Given the description of an element on the screen output the (x, y) to click on. 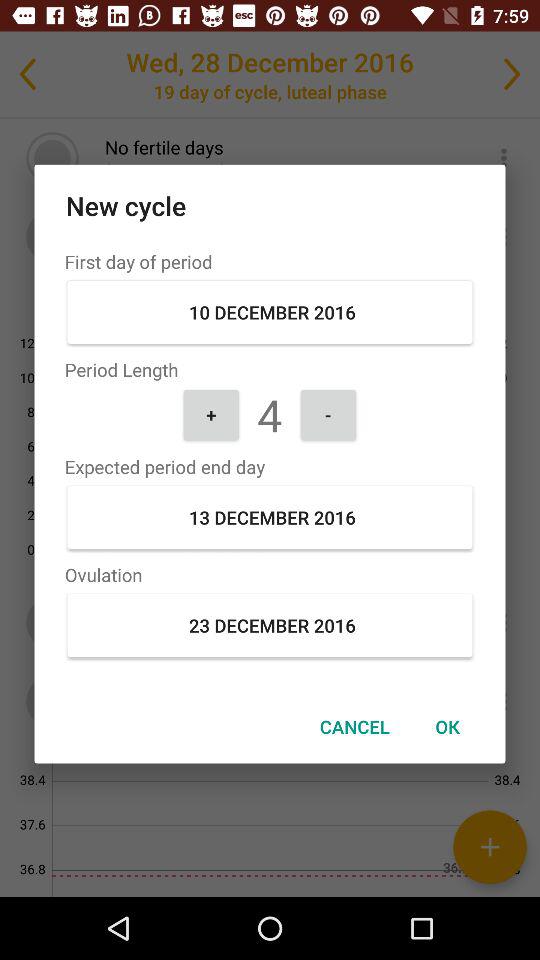
launch the item above expected period end icon (211, 414)
